Given the description of an element on the screen output the (x, y) to click on. 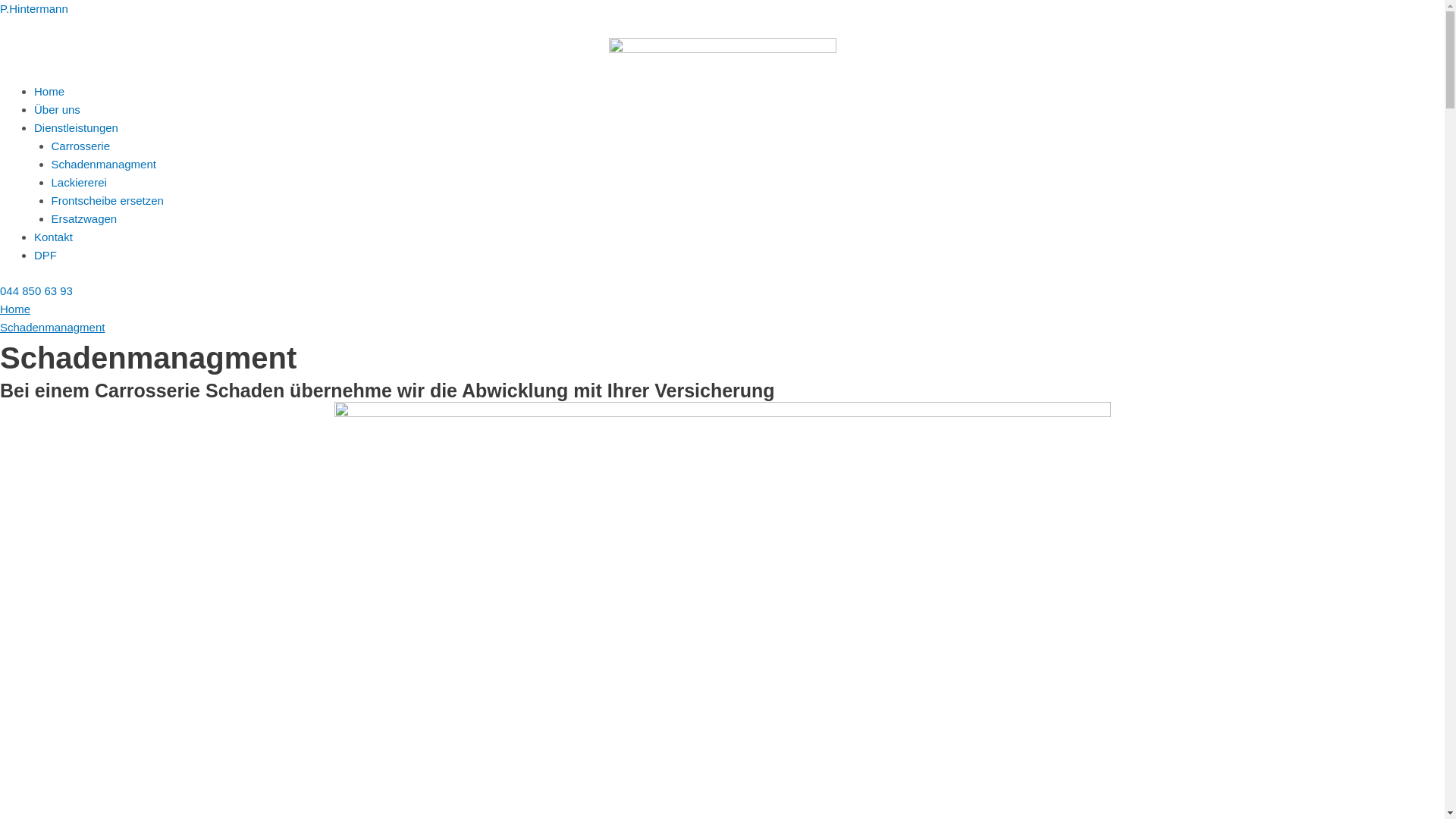
044 850 63 93 Element type: text (36, 290)
P.Hintermann Element type: text (34, 8)
Carrosserie Element type: text (80, 145)
Lackiererei Element type: text (78, 181)
Schadenmanagment Element type: text (52, 326)
DPF Element type: text (45, 254)
Dienstleistungen Element type: text (76, 127)
Home Element type: text (15, 308)
Schadenmanagment Element type: text (103, 163)
Home Element type: text (49, 90)
Frontscheibe ersetzen Element type: text (107, 200)
Kontakt Element type: text (53, 236)
Ersatzwagen Element type: text (84, 218)
